Given the description of an element on the screen output the (x, y) to click on. 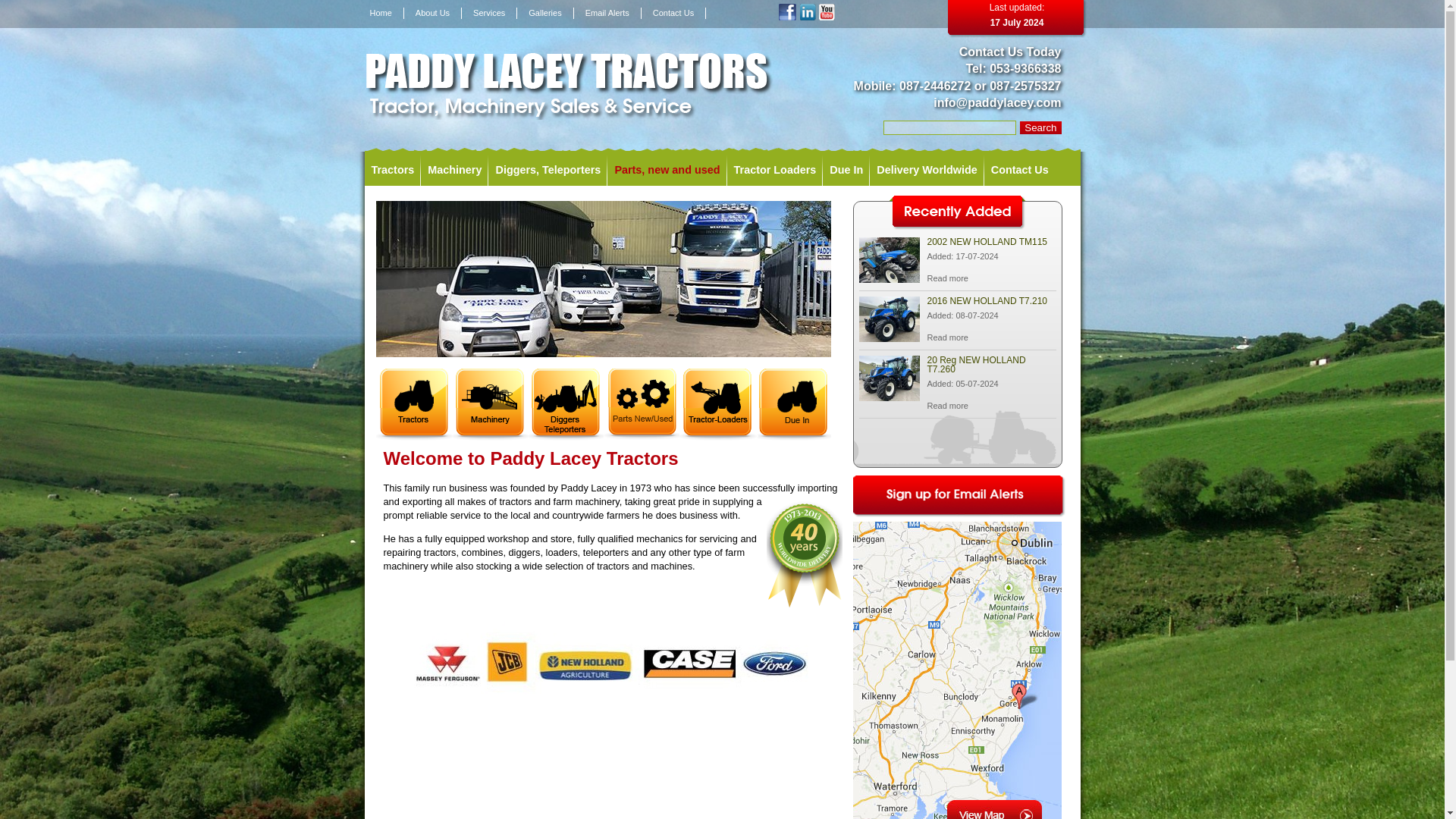
2016 NEW HOLLAND T7.210 (888, 337)
2002 NEW HOLLAND TM115 (947, 277)
Search (1040, 127)
Home (380, 12)
Contact Us (674, 12)
Contact Us (1019, 169)
Galleries (544, 12)
2016 NEW HOLLAND T7.210 (947, 337)
Tractor Loaders (775, 169)
Parts, new and used (666, 169)
Tractors (392, 169)
Read more (947, 337)
Parts, new and used (666, 169)
2002 NEW HOLLAND TM115 (888, 278)
20 Reg NEW HOLLAND T7.260 (888, 396)
